Given the description of an element on the screen output the (x, y) to click on. 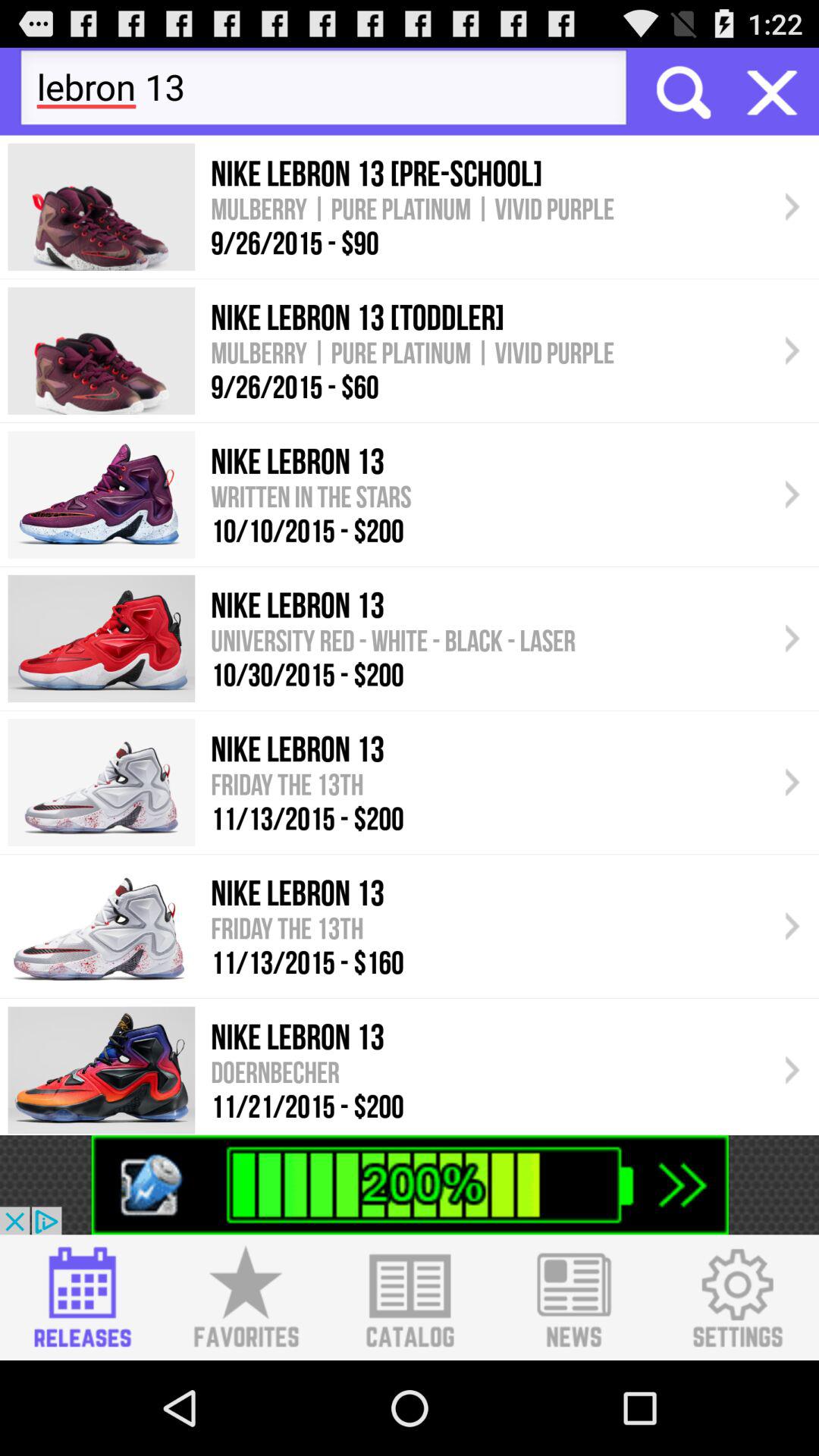
view advertisement (409, 1184)
